Given the description of an element on the screen output the (x, y) to click on. 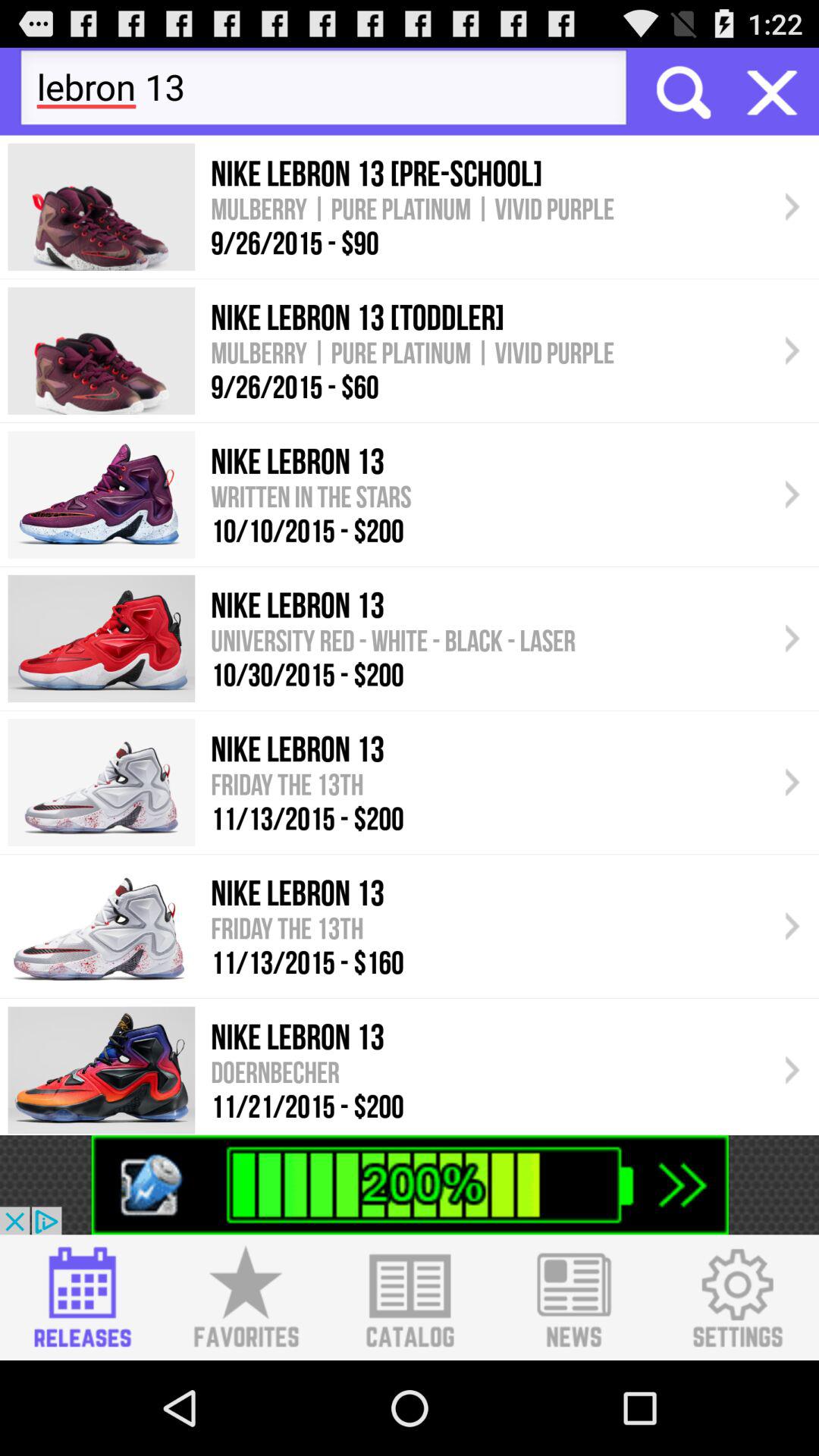
view advertisement (409, 1184)
